Given the description of an element on the screen output the (x, y) to click on. 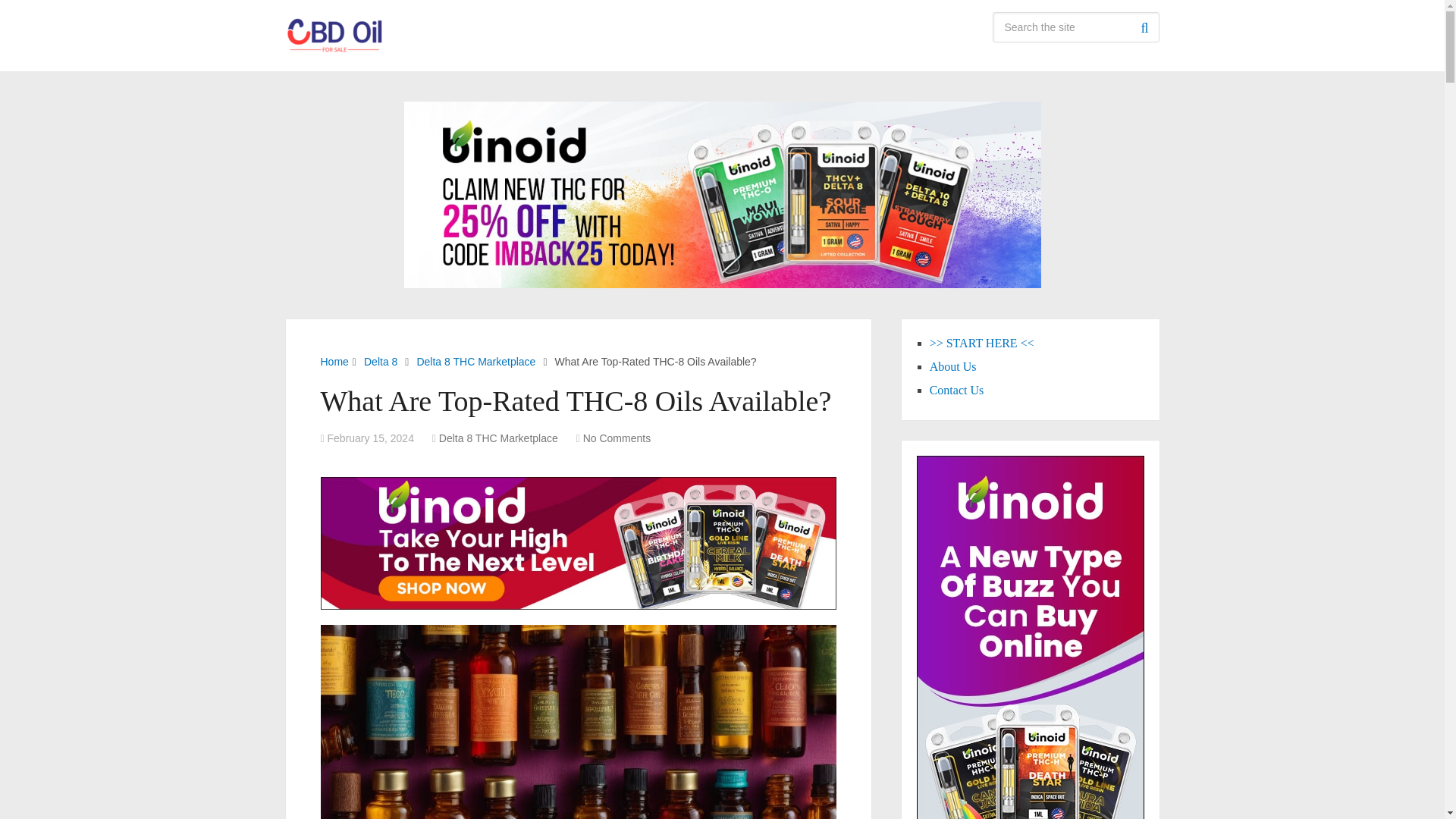
View all posts in Delta 8 THC Marketplace (498, 438)
Delta 8 THC Marketplace (498, 438)
Search (1143, 27)
Home (333, 361)
No Comments (616, 438)
Delta 8 THC Marketplace (475, 361)
Delta 8 (380, 361)
What Are Top-Rated Thc-8 Oils Available? 1 (577, 721)
